Given the description of an element on the screen output the (x, y) to click on. 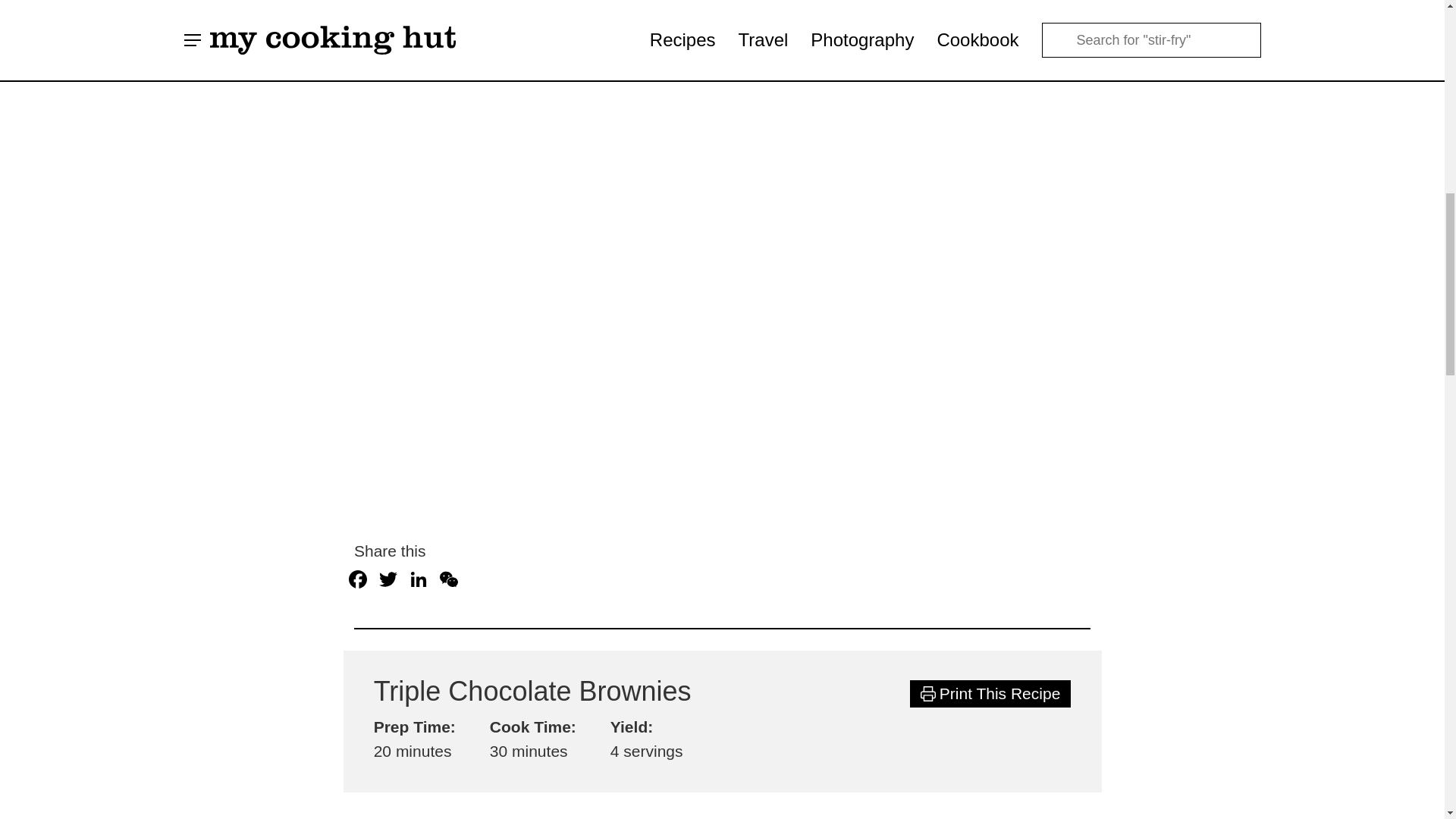
WeChat (448, 581)
Facebook (357, 581)
LinkedIn (418, 581)
Print This Recipe (990, 693)
Twitter (387, 581)
Facebook (357, 581)
Twitter (387, 581)
LinkedIn (418, 581)
WeChat (448, 581)
